Given the description of an element on the screen output the (x, y) to click on. 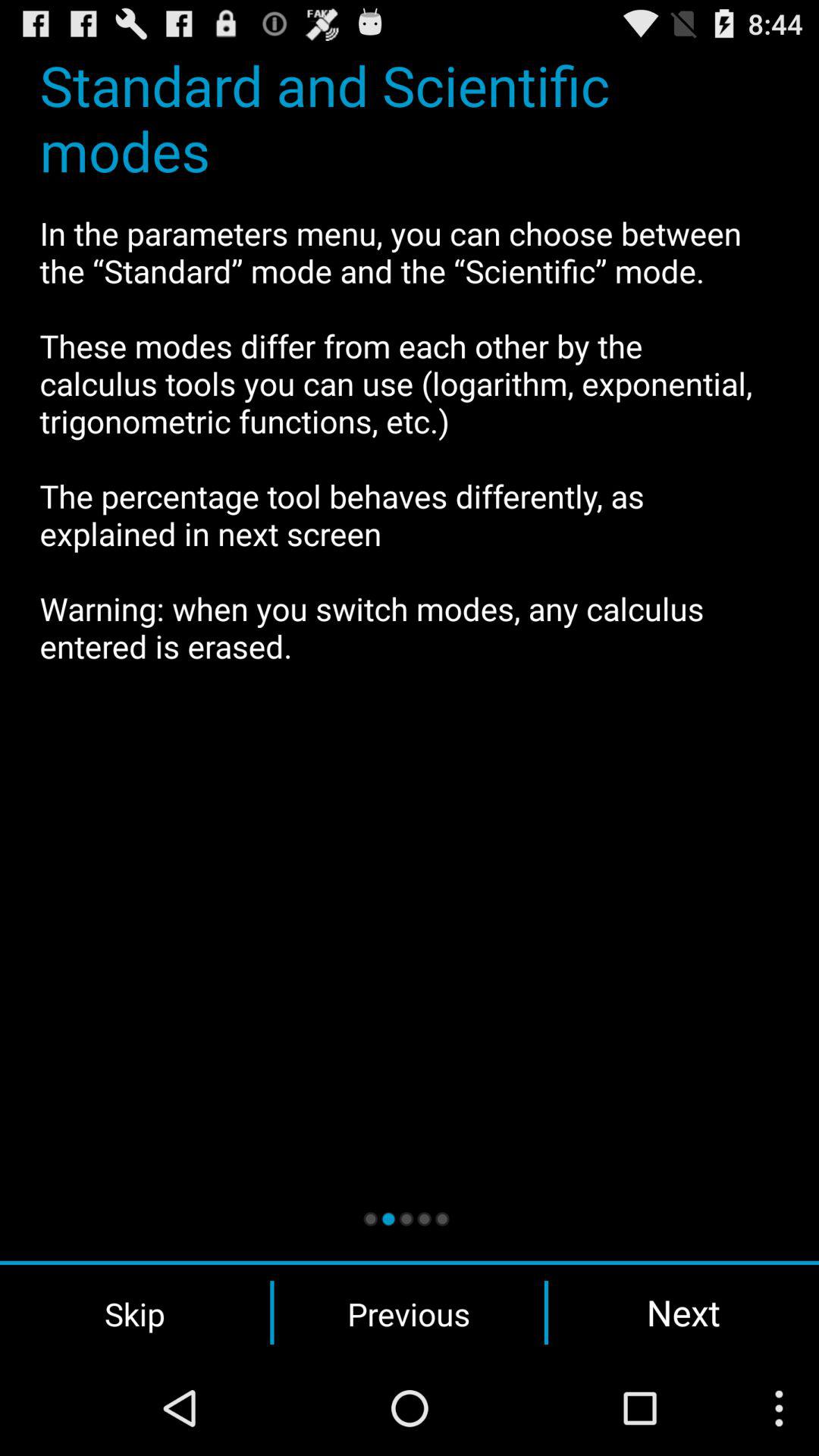
swipe until the skip item (135, 1313)
